Given the description of an element on the screen output the (x, y) to click on. 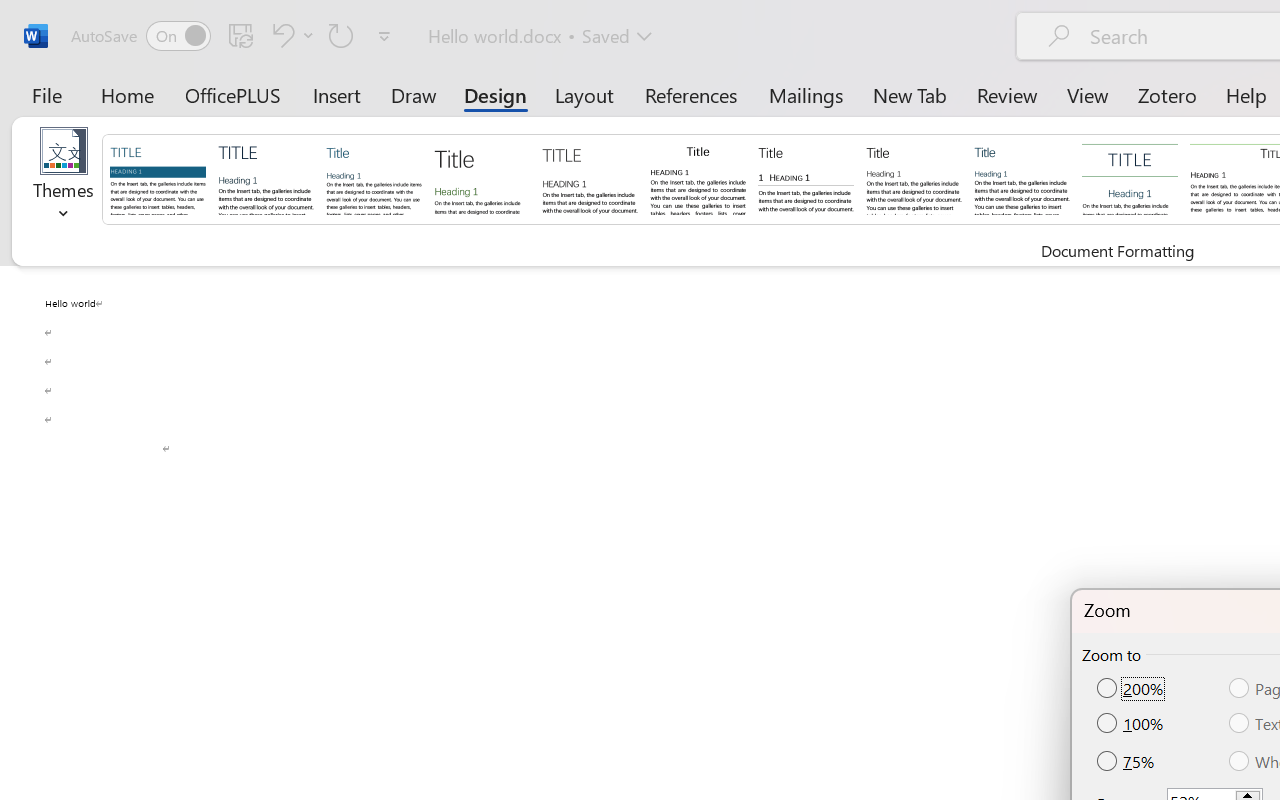
Basic (Simple) (373, 178)
New Tab (909, 94)
Insert (337, 94)
Black & White (Numbered) (806, 178)
75% (1127, 760)
Layout (584, 94)
AutoSave (140, 35)
View (1087, 94)
Quick Access Toolbar (233, 36)
Casual (1021, 178)
Document (157, 178)
File Tab (46, 94)
100% (1131, 723)
Home (127, 94)
200% (1131, 689)
